Given the description of an element on the screen output the (x, y) to click on. 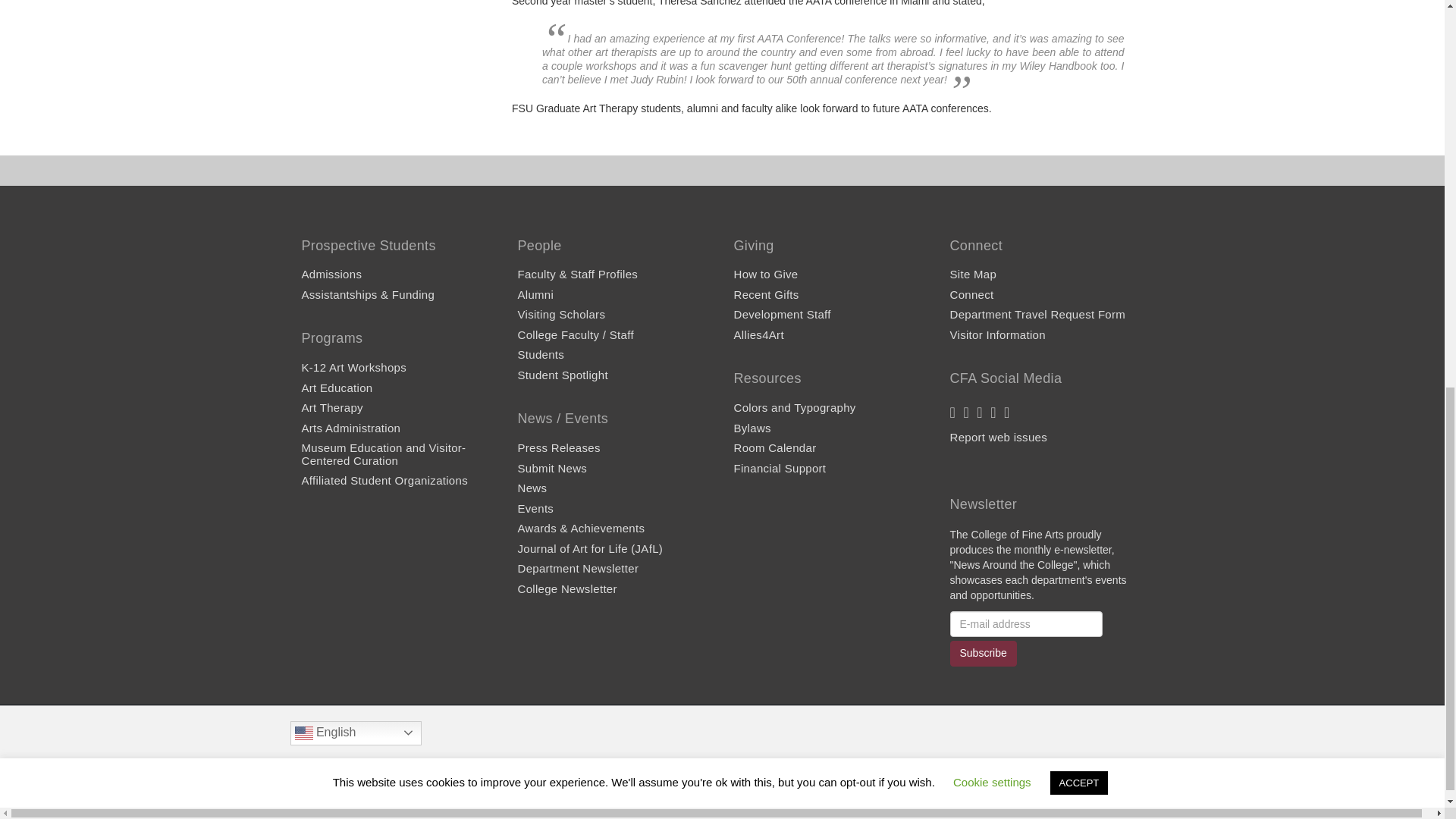
facebook (953, 412)
RSS (1008, 412)
Subscribe (982, 653)
twitter (967, 412)
instagram (980, 412)
linkedin (994, 412)
Facebook (958, 784)
